Given the description of an element on the screen output the (x, y) to click on. 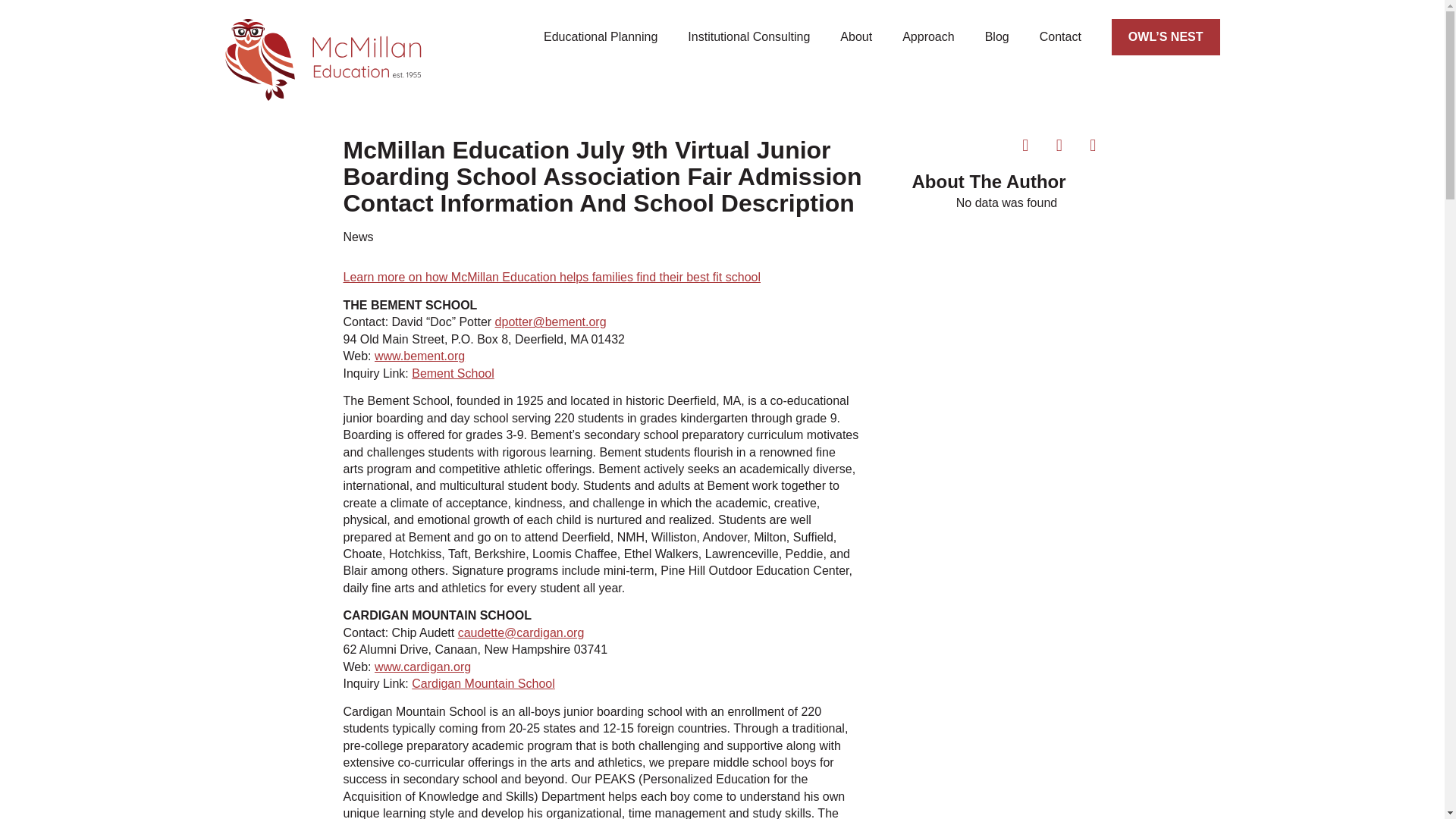
Educational Planning (600, 36)
Contact (1060, 36)
Approach (928, 36)
Institutional Consulting (748, 36)
